Given the description of an element on the screen output the (x, y) to click on. 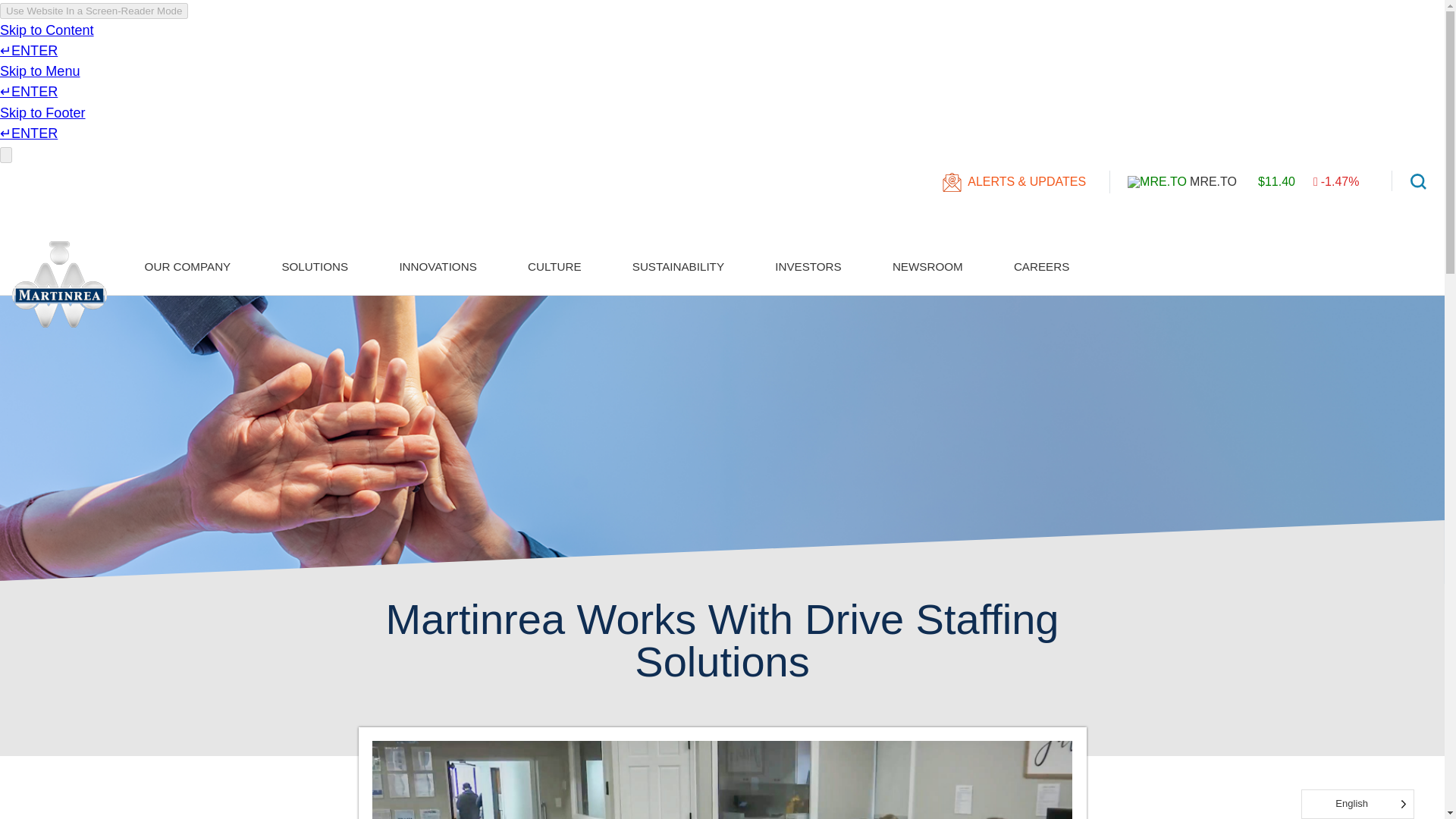
Innovations (438, 266)
SUSTAINABILITY (678, 266)
CULTURE (554, 266)
SOLUTIONS (315, 266)
Our Company (187, 266)
OUR COMPANY (187, 266)
INVESTORS (807, 266)
Solutions (315, 266)
INNOVATIONS (438, 266)
